Given the description of an element on the screen output the (x, y) to click on. 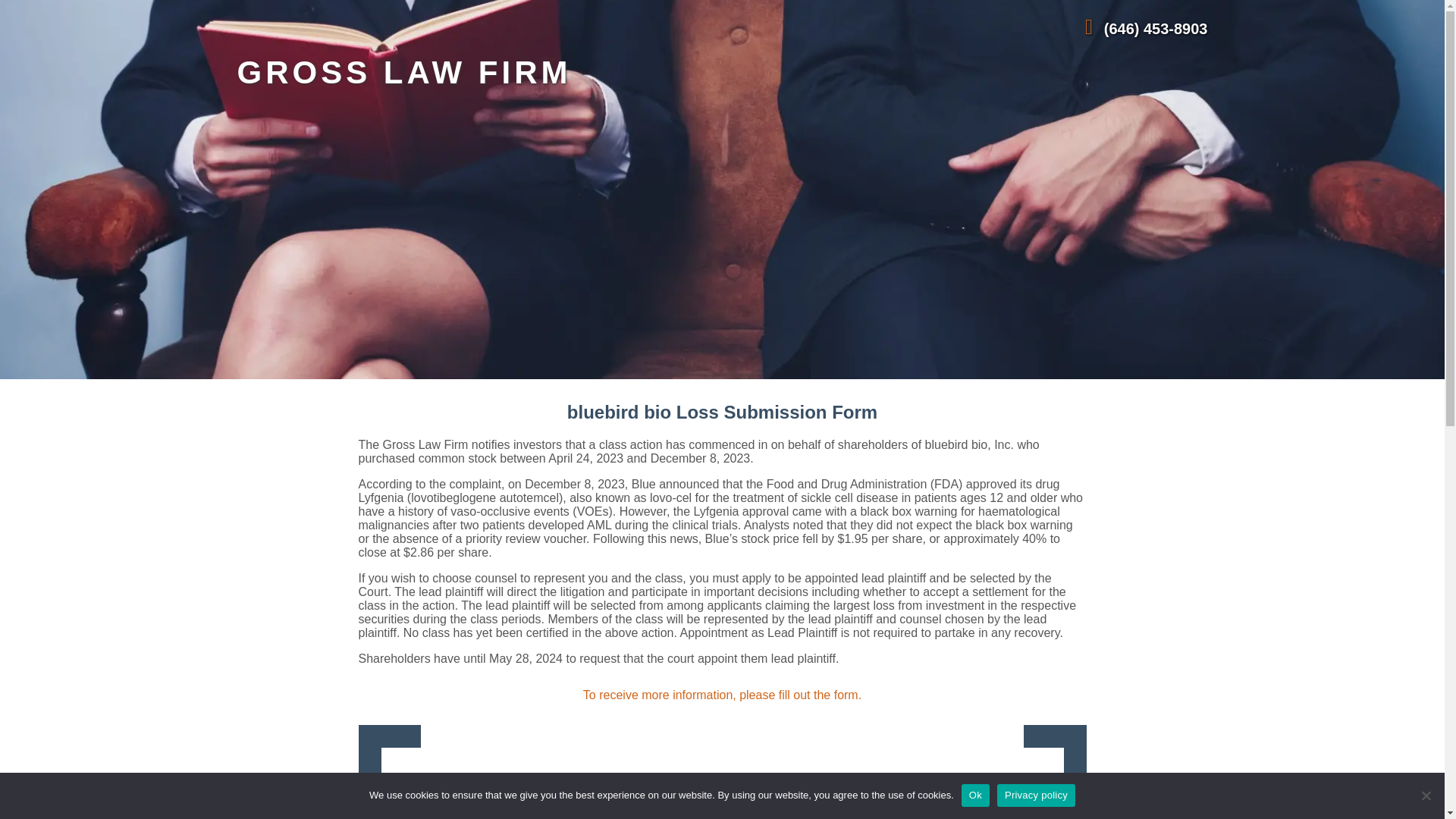
Privacy policy (1036, 794)
Ok (975, 794)
GROSS LAW FIRM (402, 72)
